Given the description of an element on the screen output the (x, y) to click on. 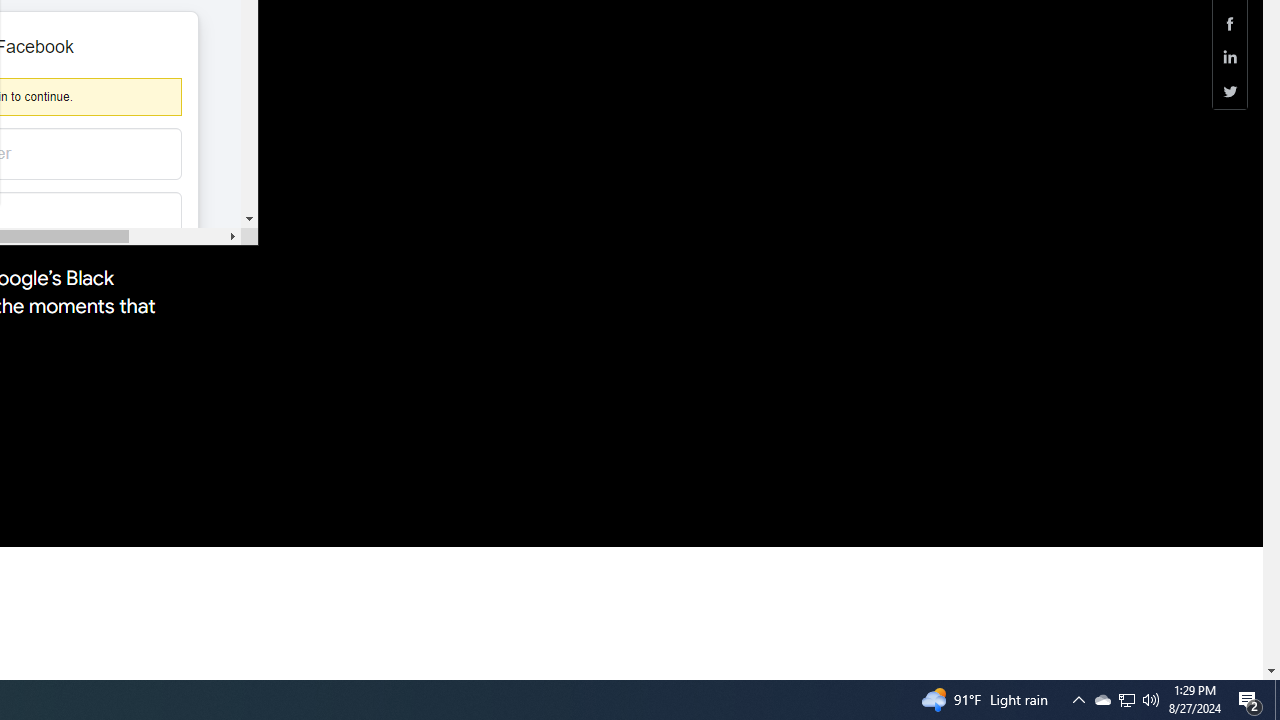
User Promoted Notification Area (1126, 699)
Q2790: 100% (1126, 699)
Action Center, 2 new notifications (1151, 699)
Notification Chevron (1250, 699)
Show desktop (1102, 699)
